Given the description of an element on the screen output the (x, y) to click on. 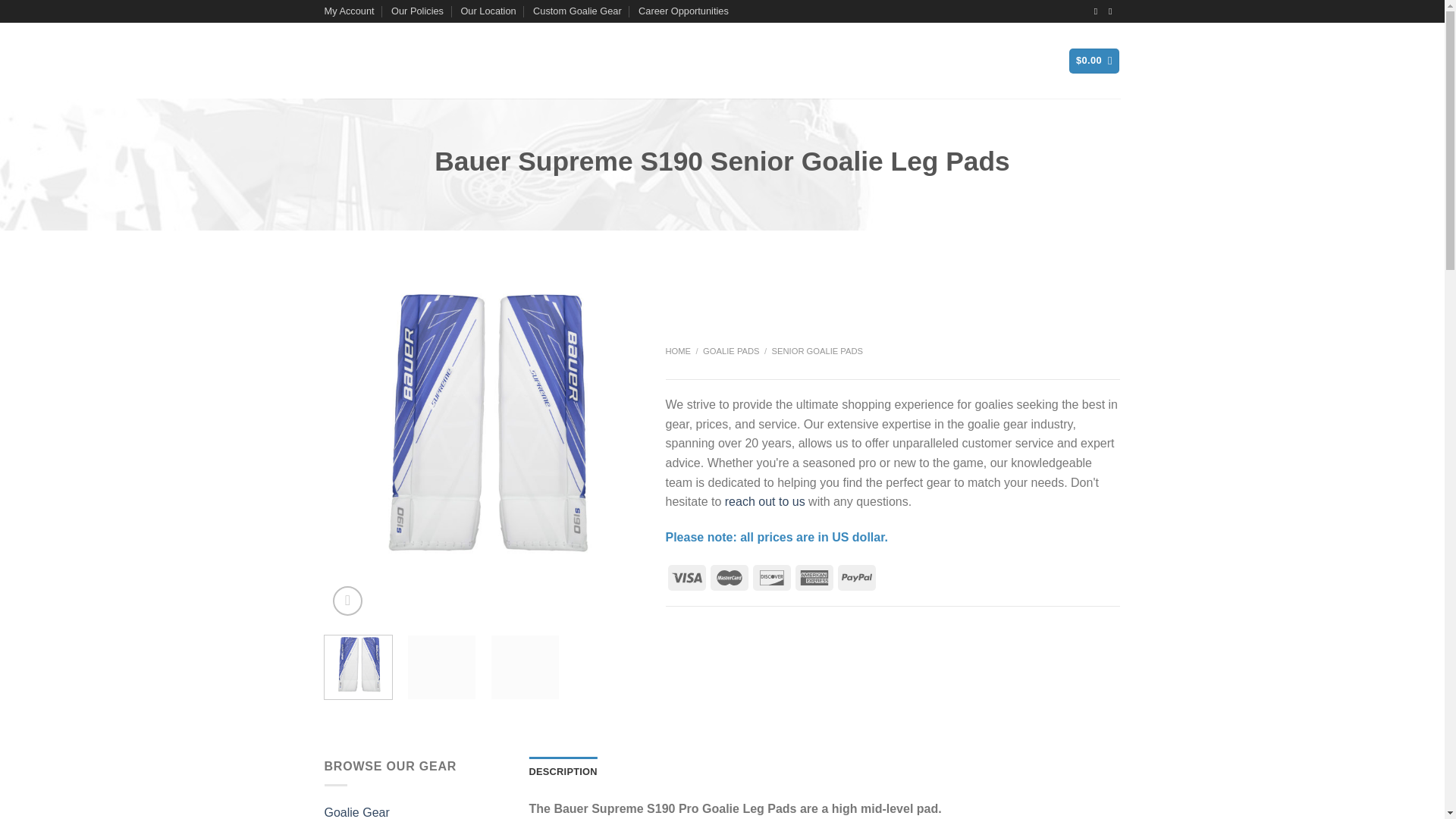
Career Opportunities (684, 11)
GOALIE GEAR (516, 60)
Our Location (487, 11)
My Account (349, 11)
Our Policies (417, 11)
Cart (1093, 60)
Zoom (347, 600)
Custom Goalie Gear (576, 11)
